Given the description of an element on the screen output the (x, y) to click on. 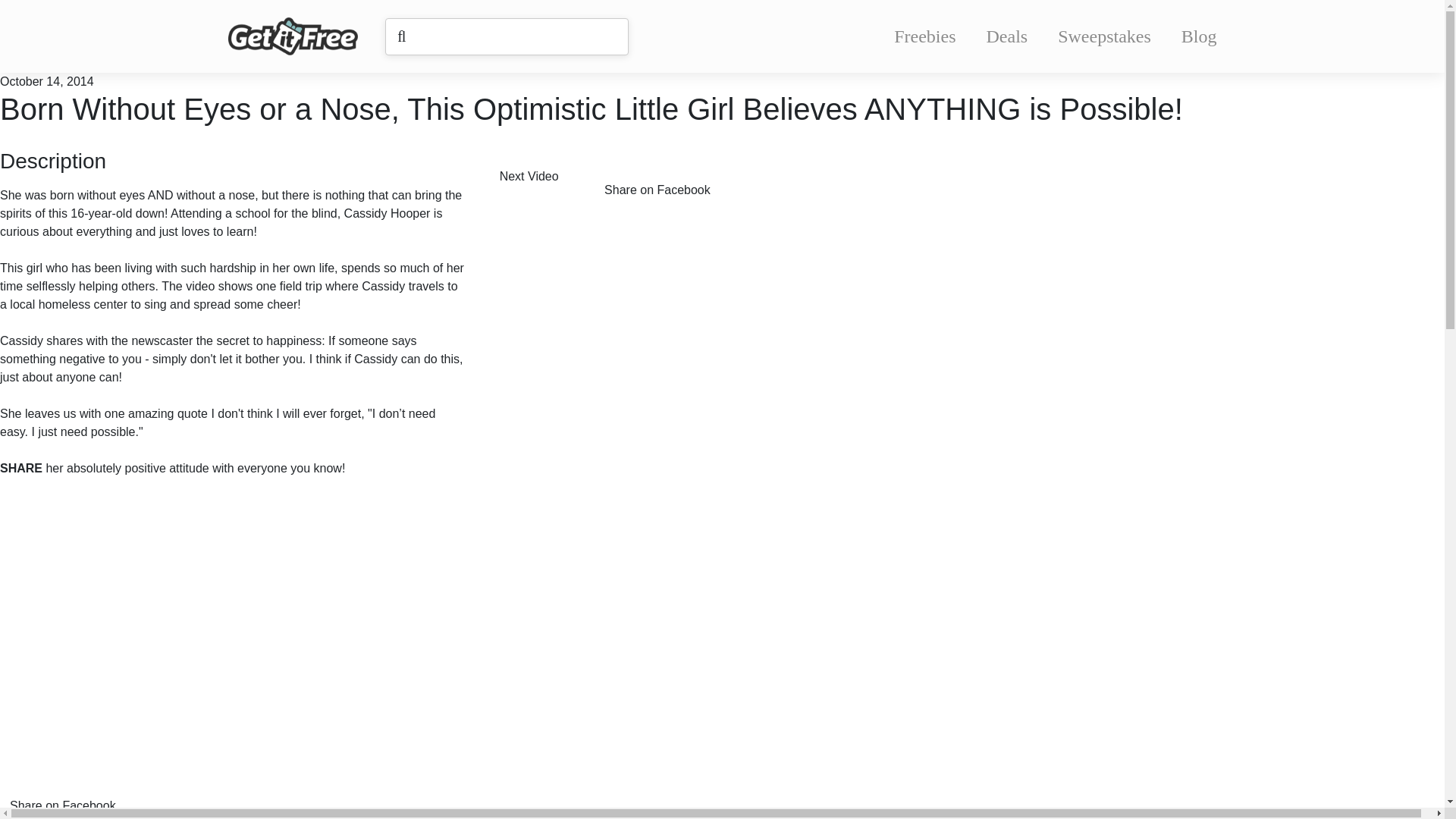
Next Video (540, 178)
Share on Facebook (668, 178)
Freebies (924, 35)
Deals (1007, 35)
Sweepstakes (1104, 35)
Blog (1198, 35)
Share on Facebook (74, 791)
